Given the description of an element on the screen output the (x, y) to click on. 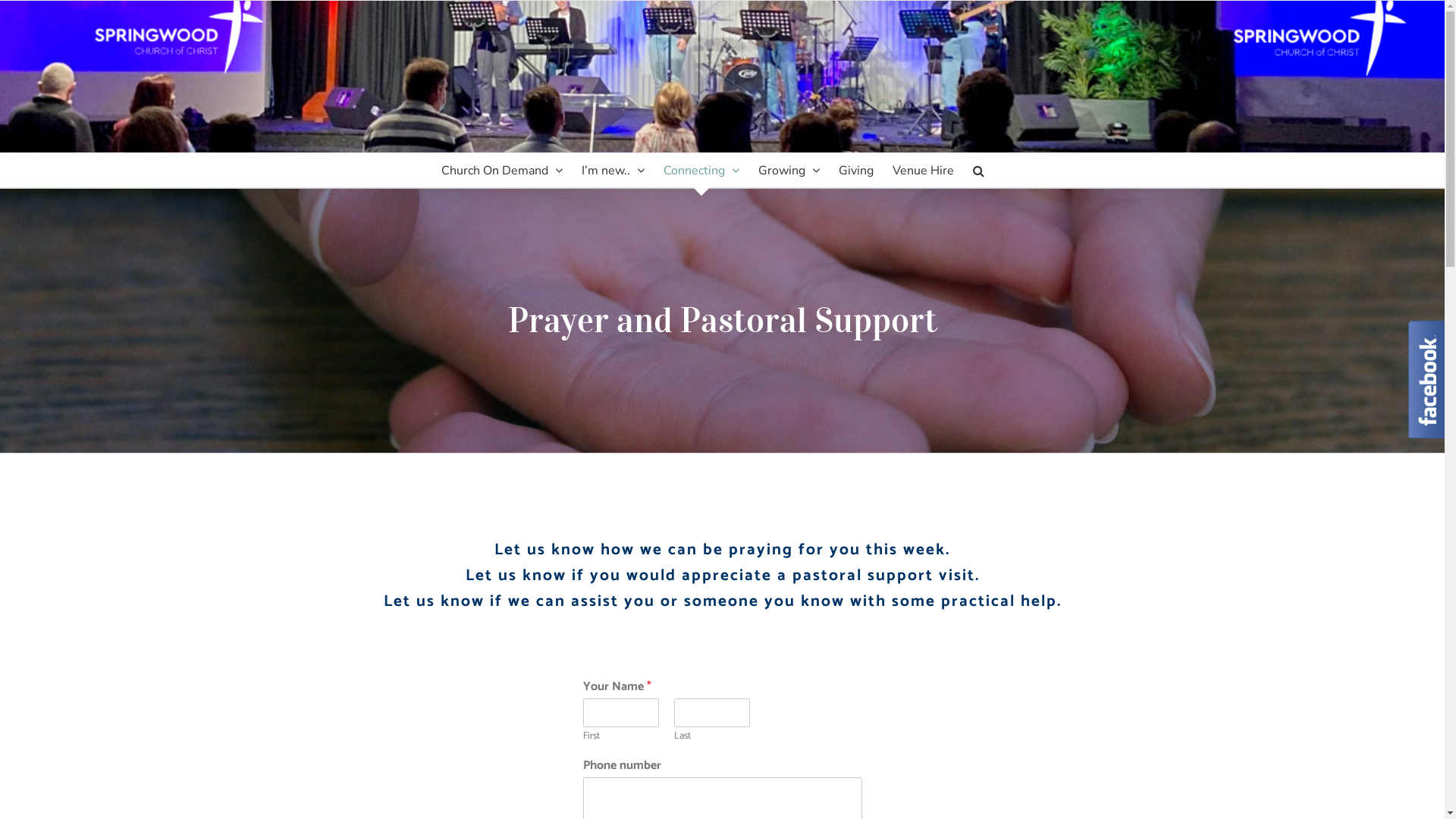
Connecting Element type: text (701, 170)
Growing Element type: text (788, 170)
Church On Demand Element type: text (501, 170)
Venue Hire Element type: text (922, 170)
Search Element type: hover (978, 170)
Giving Element type: text (855, 170)
